Given the description of an element on the screen output the (x, y) to click on. 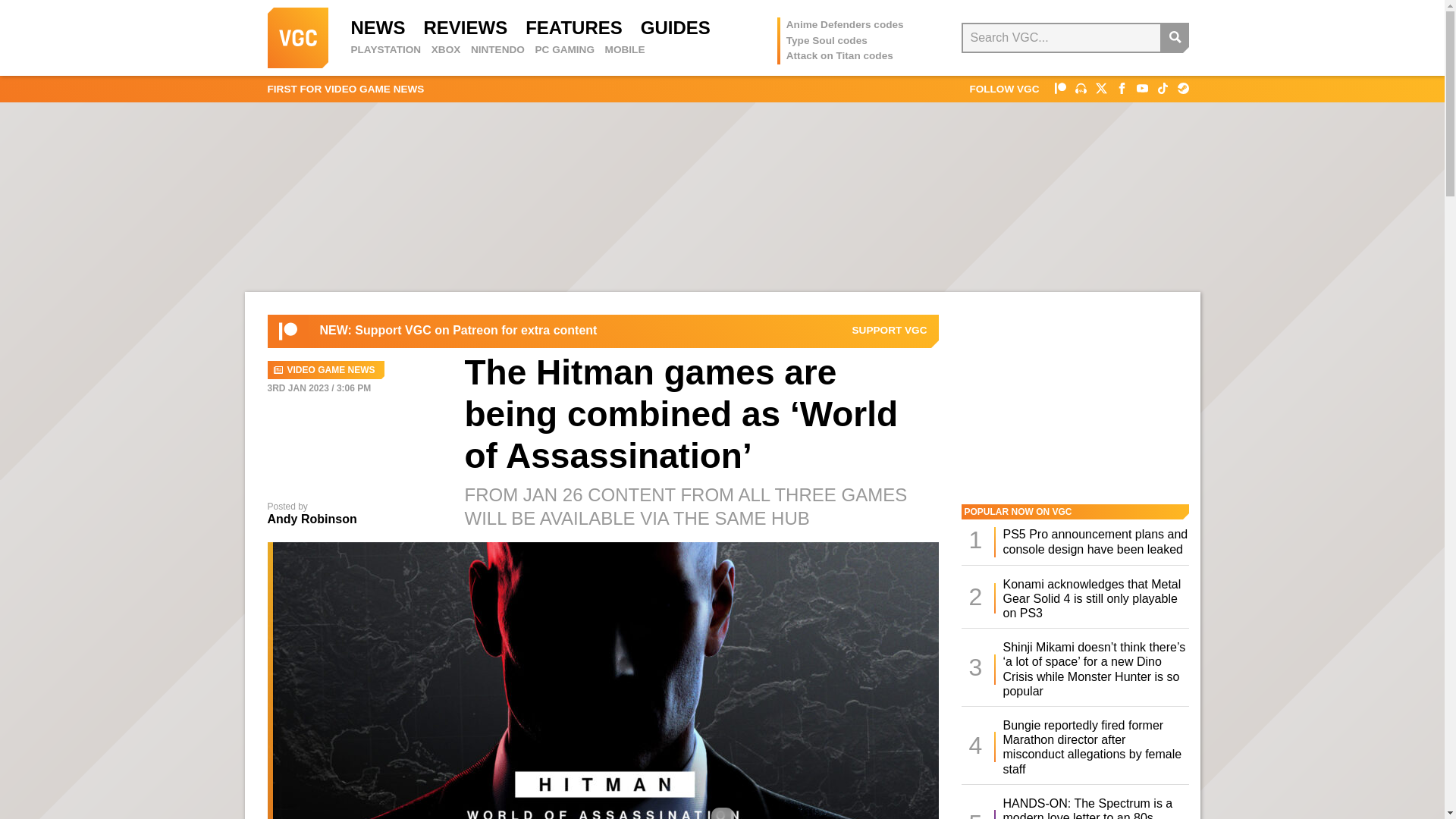
XBOX (445, 49)
Posts by Andy Robinson (311, 518)
NINTENDO (497, 49)
Attack on Titan codes (839, 55)
NEW: Support VGC on Patreon for extra content (457, 330)
FEATURES (574, 27)
Anime Defenders codes (845, 24)
VGC on Patreon (288, 331)
VIDEO GAME NEWS (325, 370)
MOBILE (625, 49)
